Given the description of an element on the screen output the (x, y) to click on. 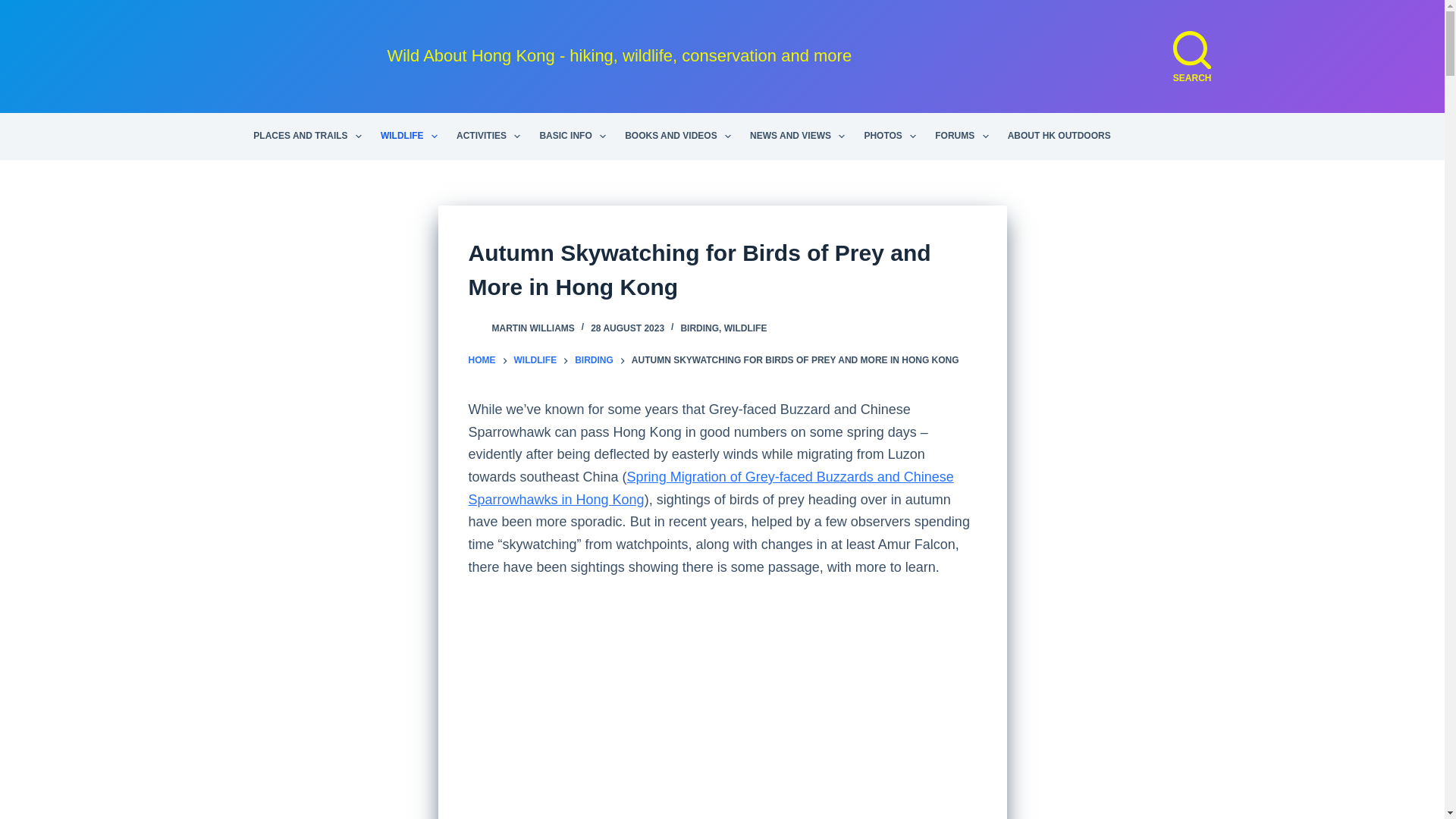
Skip to content (15, 7)
Posts by Martin Williams (532, 327)
